Given the description of an element on the screen output the (x, y) to click on. 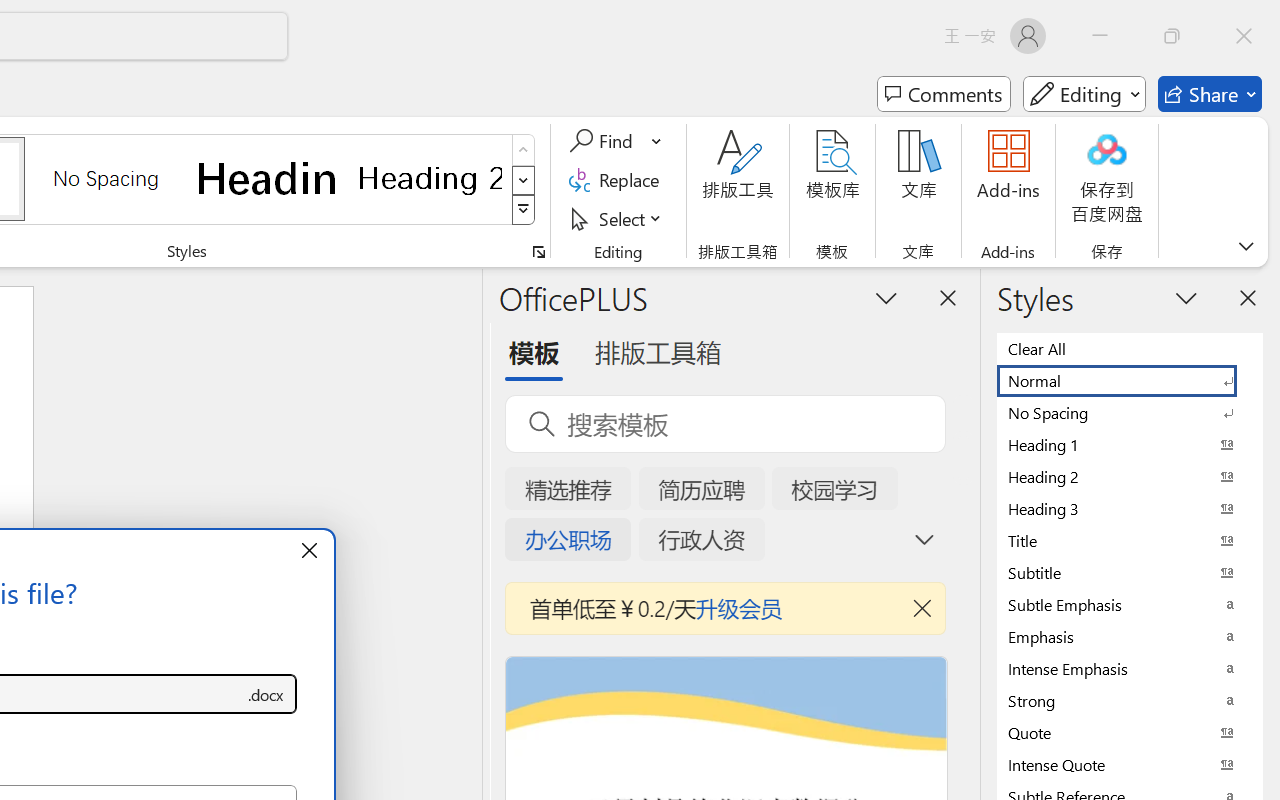
Find (616, 141)
Title (1130, 540)
Ribbon Display Options (1246, 245)
Replace... (617, 179)
Row up (523, 150)
Select (618, 218)
Subtitle (1130, 572)
